Given the description of an element on the screen output the (x, y) to click on. 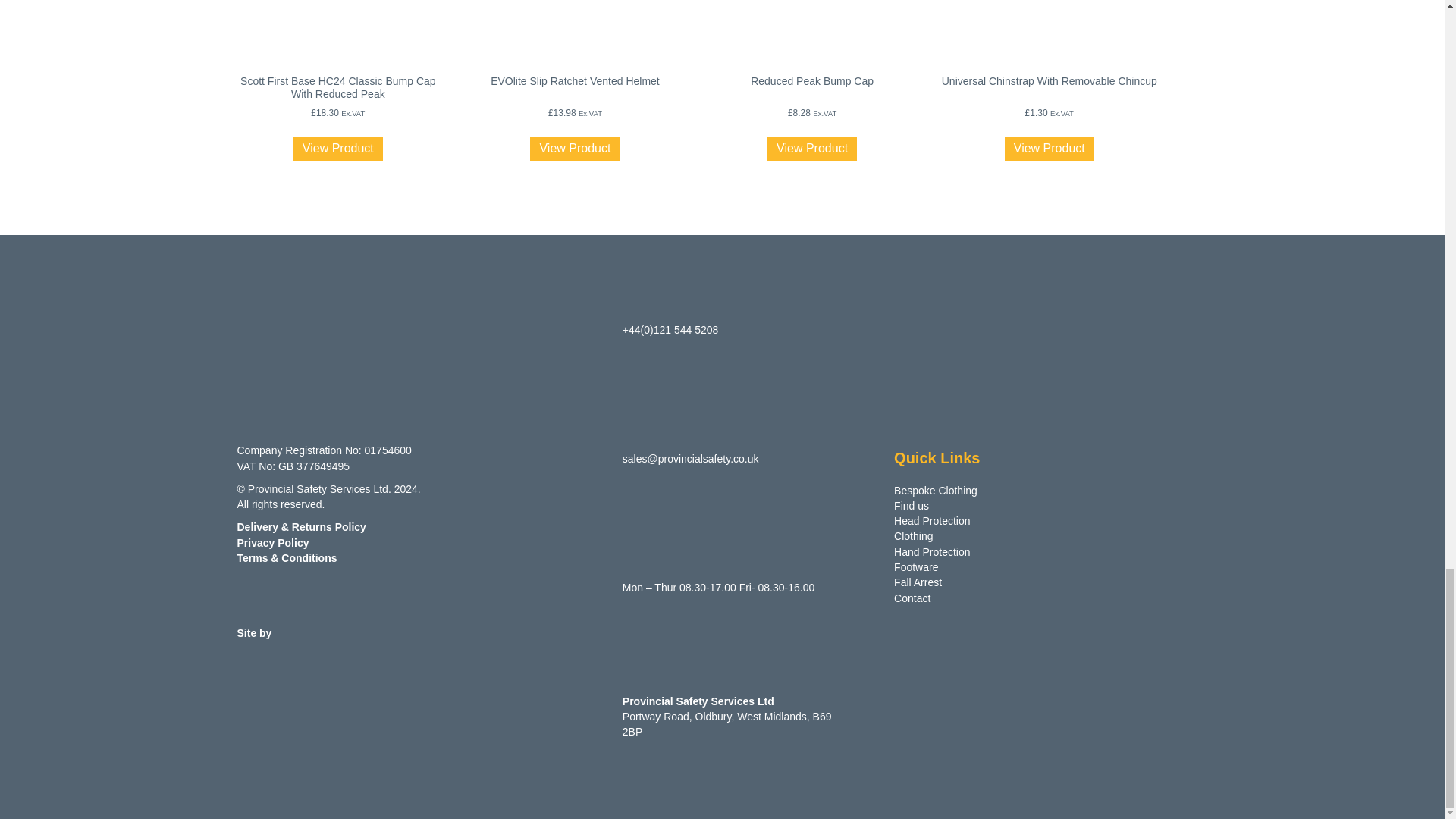
View Product (338, 148)
Web Design and Development West Midlands (388, 633)
Ps Footer (341, 399)
